Given the description of an element on the screen output the (x, y) to click on. 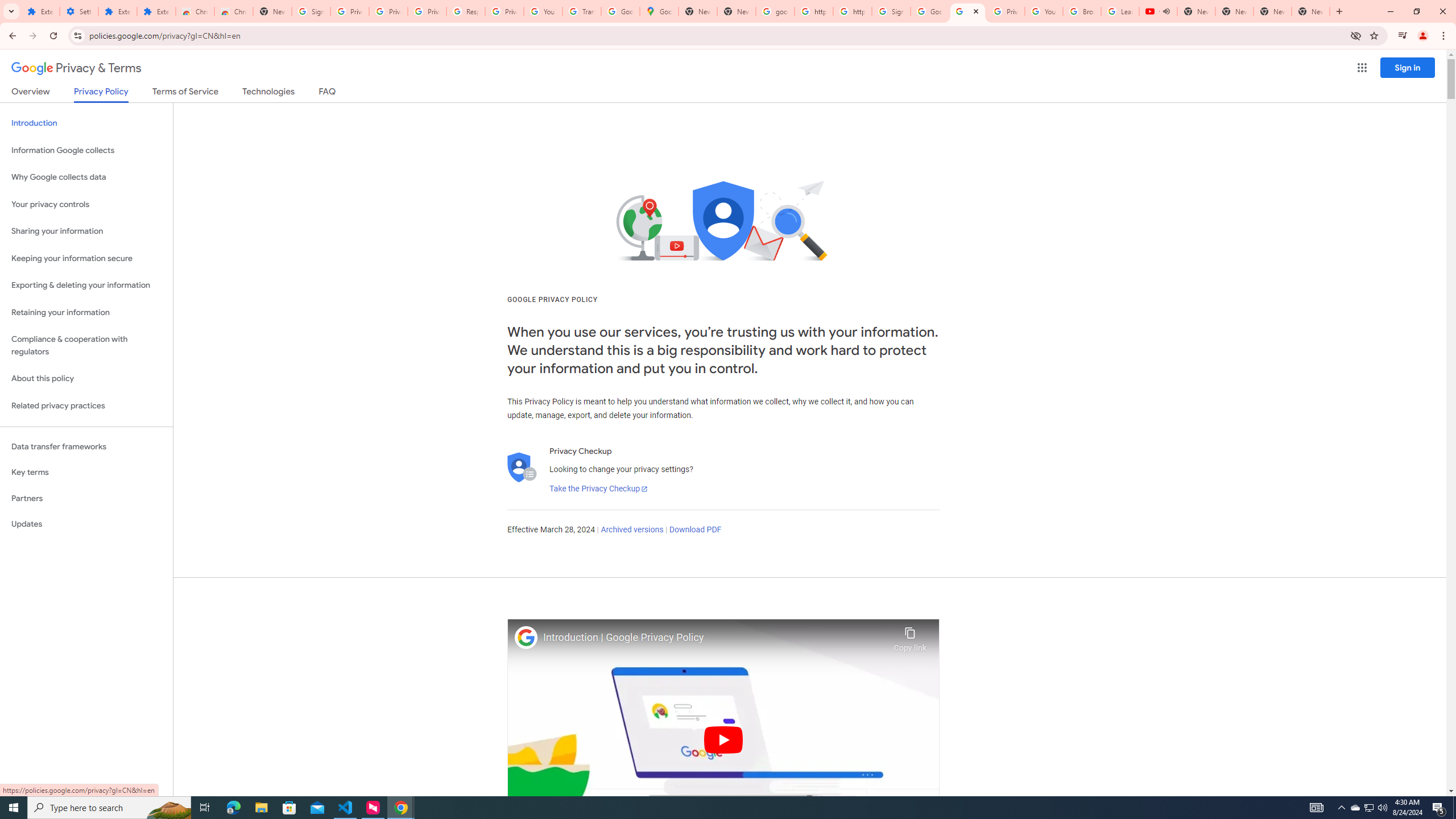
Photo image of Google (526, 636)
https://scholar.google.com/ (813, 11)
Extensions (40, 11)
Google Maps (659, 11)
Sign in - Google Accounts (310, 11)
